Given the description of an element on the screen output the (x, y) to click on. 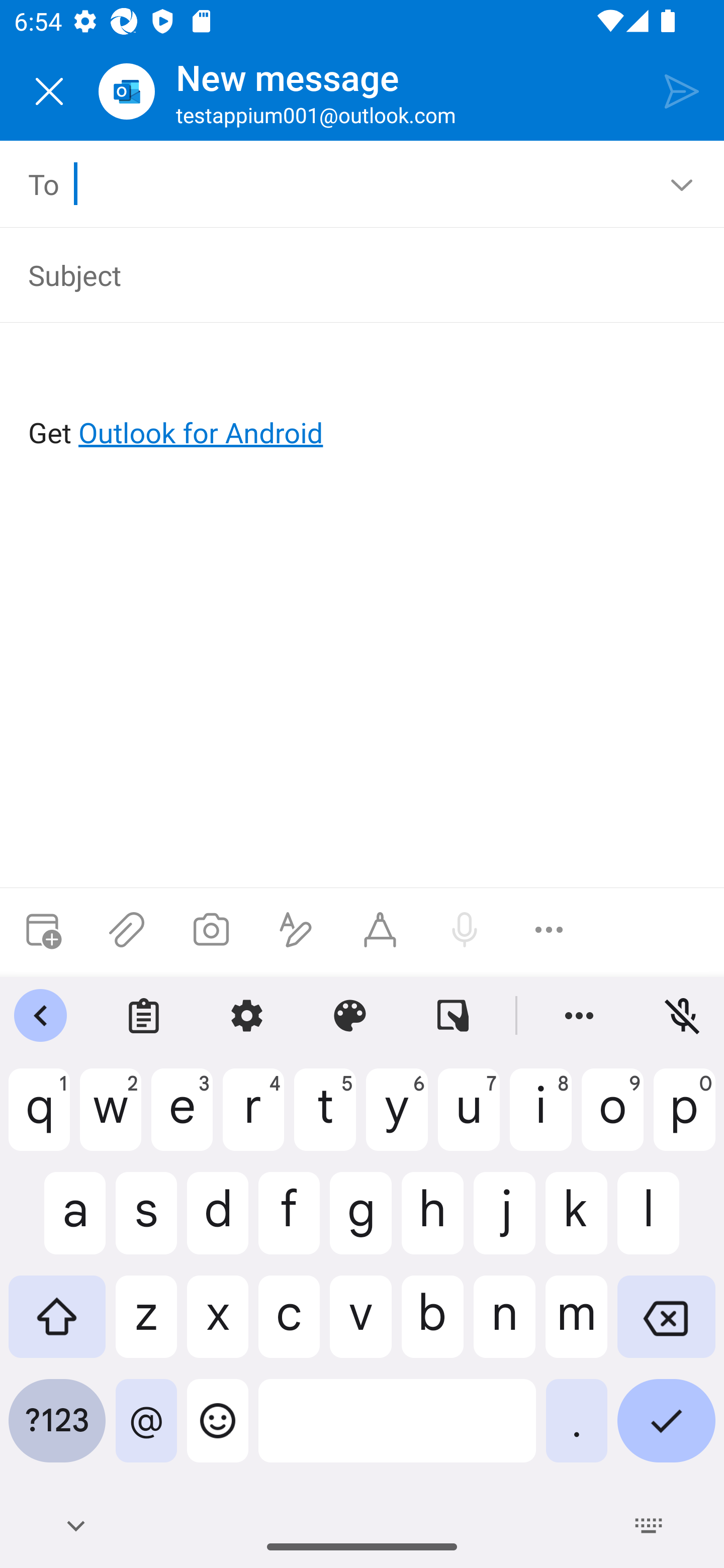
Close (49, 91)
Send (681, 90)
Subject (347, 274)


Get Outlook for Android (363, 400)
Attach meeting (42, 929)
Attach files (126, 929)
Take a photo (210, 929)
Show formatting options (295, 929)
Start Ink compose (380, 929)
More options (548, 929)
